Given the description of an element on the screen output the (x, y) to click on. 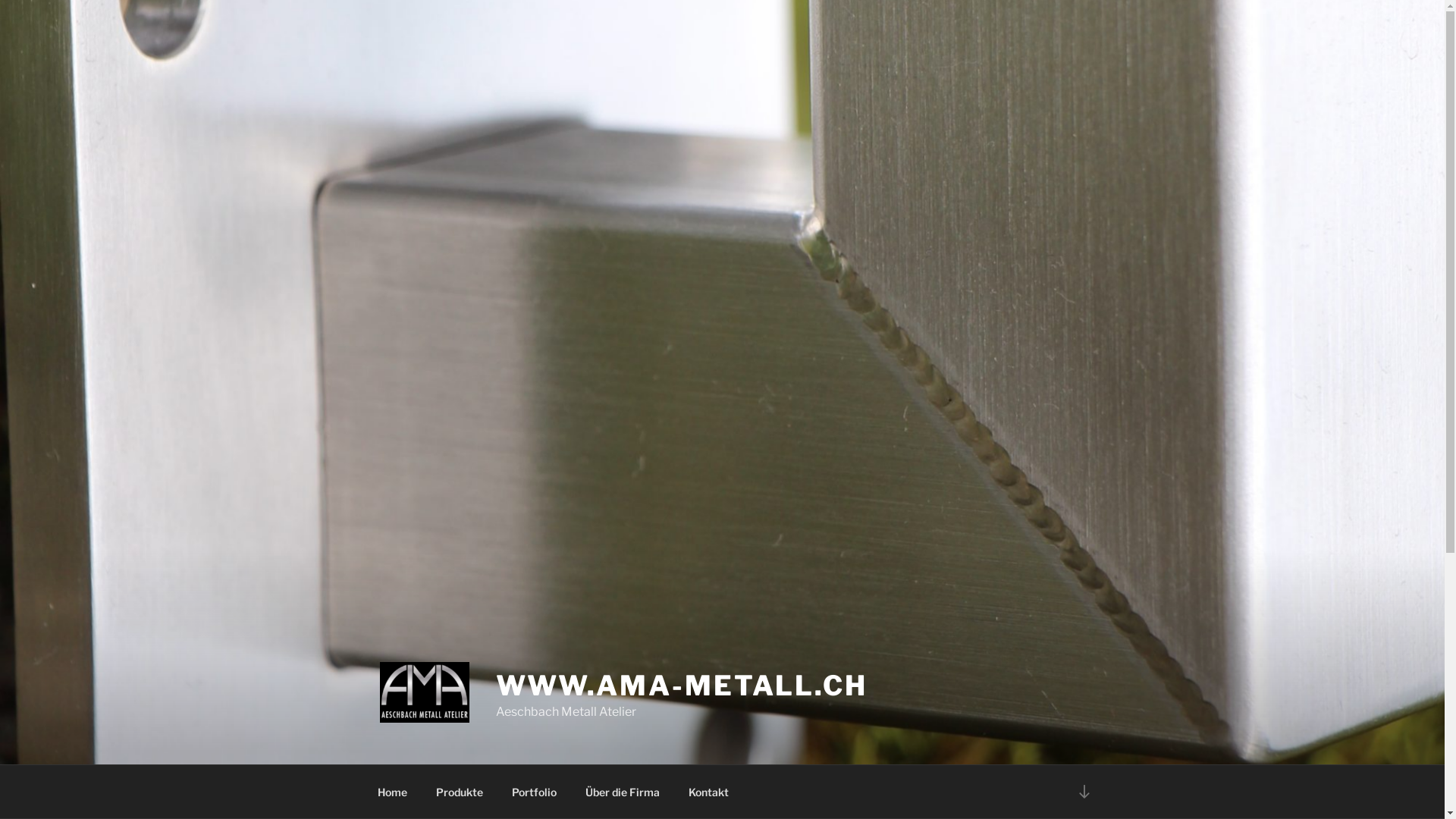
Home Element type: text (392, 791)
Portfolio Element type: text (534, 791)
Produkte Element type: text (459, 791)
WWW.AMA-METALL.CH Element type: text (681, 685)
Zum Inhalt nach unten scrollen Element type: text (1083, 790)
Kontakt Element type: text (707, 791)
